Given the description of an element on the screen output the (x, y) to click on. 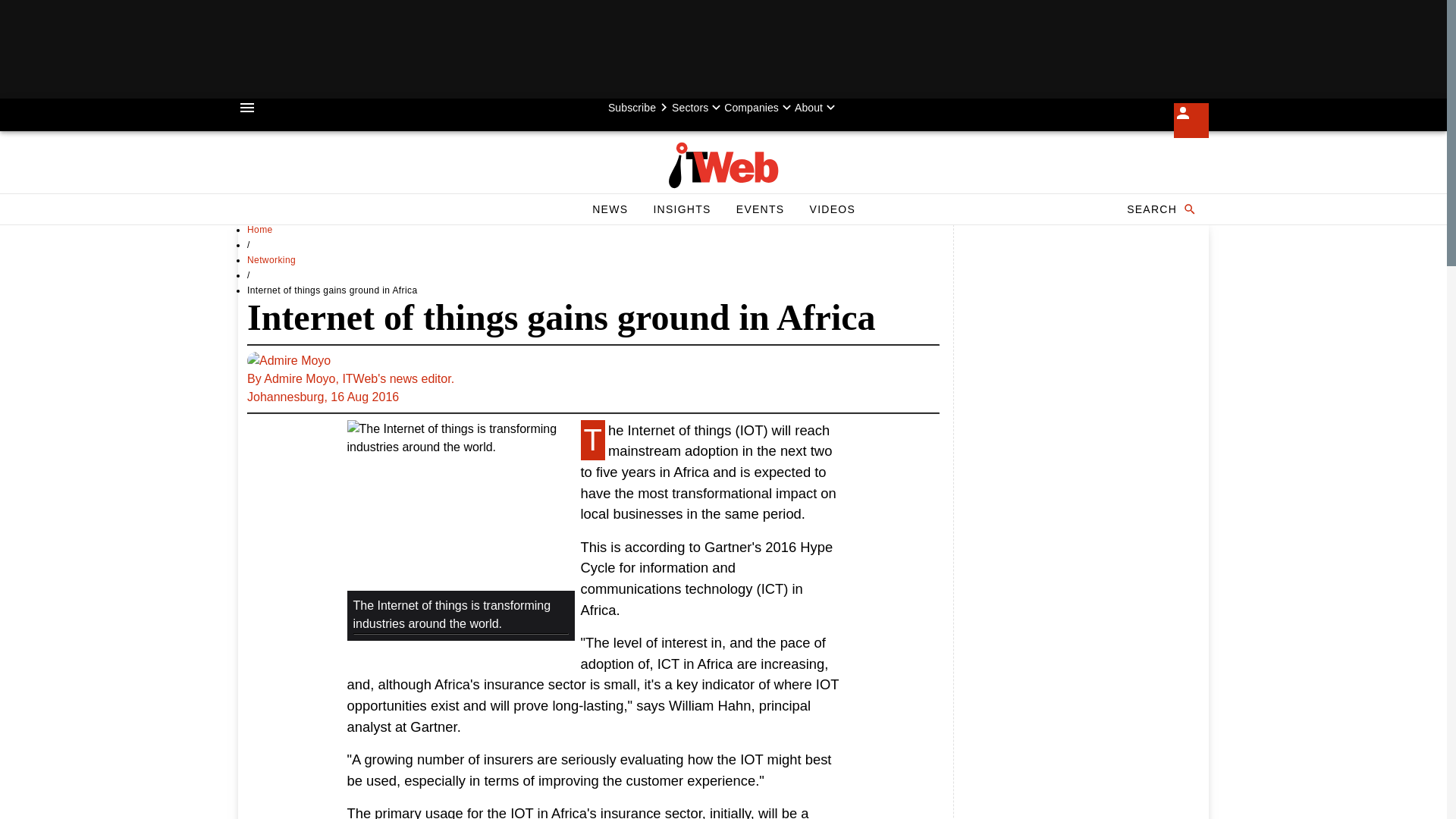
Home (260, 229)
Subscribe (639, 107)
INSIGHTS (681, 208)
EVENTS (759, 208)
NEWS (609, 208)
VIDEOS (831, 208)
Networking (271, 259)
SEARCH (1160, 209)
